Given the description of an element on the screen output the (x, y) to click on. 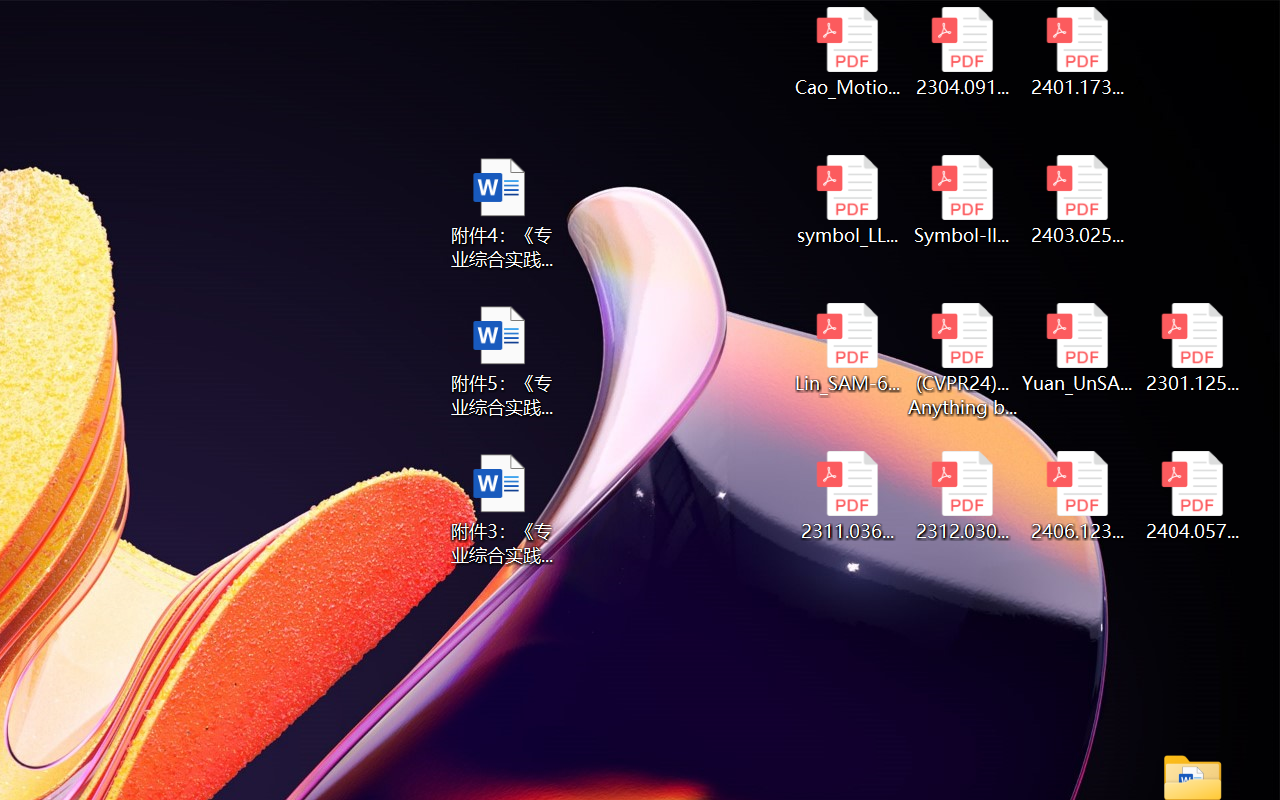
2404.05719v1.pdf (1192, 496)
symbol_LLM.pdf (846, 200)
2311.03658v2.pdf (846, 496)
(CVPR24)Matching Anything by Segmenting Anything.pdf (962, 360)
2301.12597v3.pdf (1192, 348)
2403.02502v1.pdf (1077, 200)
2304.09121v3.pdf (962, 52)
Symbol-llm-v2.pdf (962, 200)
2312.03032v2.pdf (962, 496)
2401.17399v1.pdf (1077, 52)
